Given the description of an element on the screen output the (x, y) to click on. 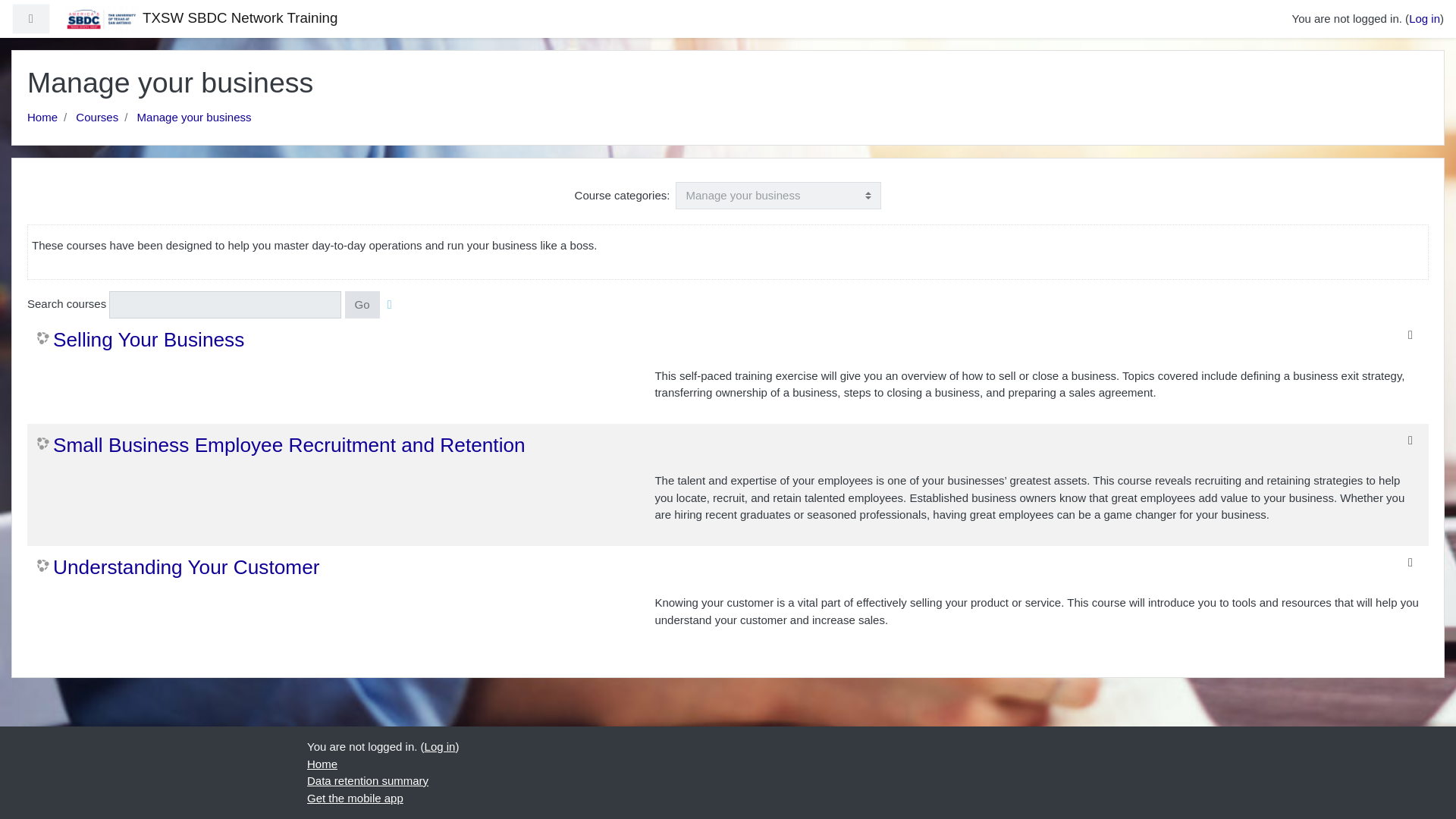
Home (322, 762)
Help with Search courses (390, 304)
Small Business Employee Recruitment and Retention (281, 445)
Manage your business (193, 116)
Courses (96, 116)
Self enrolment (1410, 335)
Data retention summary (367, 780)
TXSW SBDC Network Training (201, 18)
Get the mobile app (355, 797)
Go (362, 305)
Log in (1424, 18)
Selling Your Business (140, 340)
Self enrolment (1410, 562)
Self enrolment (1410, 439)
Understanding Your Customer (177, 567)
